Given the description of an element on the screen output the (x, y) to click on. 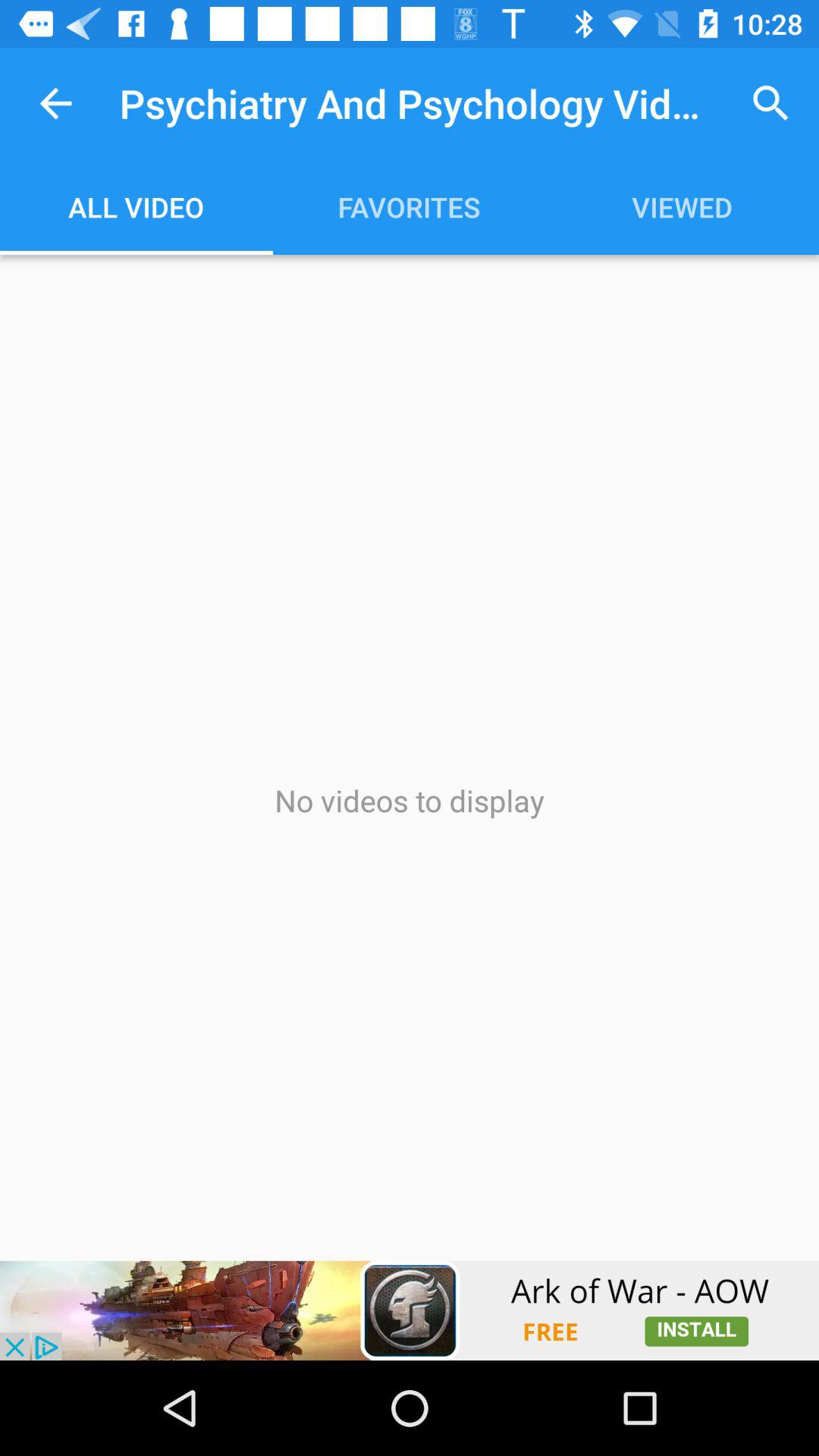
games page (409, 1310)
